Given the description of an element on the screen output the (x, y) to click on. 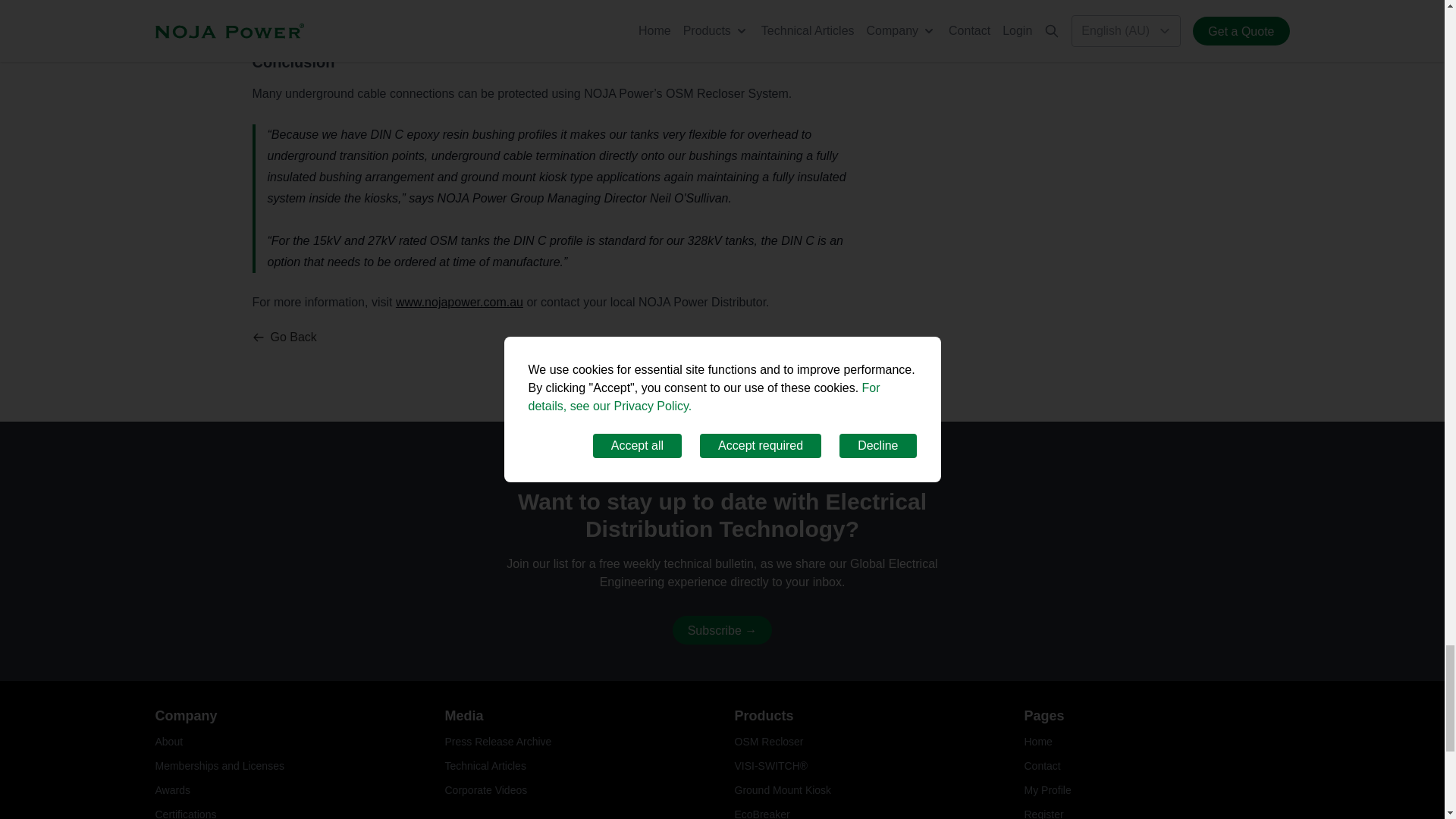
About (168, 741)
Press Release Archive (497, 741)
Awards (171, 789)
Technical Articles (484, 766)
Corporate Videos (485, 789)
OSM Recloser (768, 741)
Memberships and Licenses (218, 766)
Go Back (283, 337)
Ground Mount Kiosk (782, 789)
www.nojapower.com.au (459, 301)
